Given the description of an element on the screen output the (x, y) to click on. 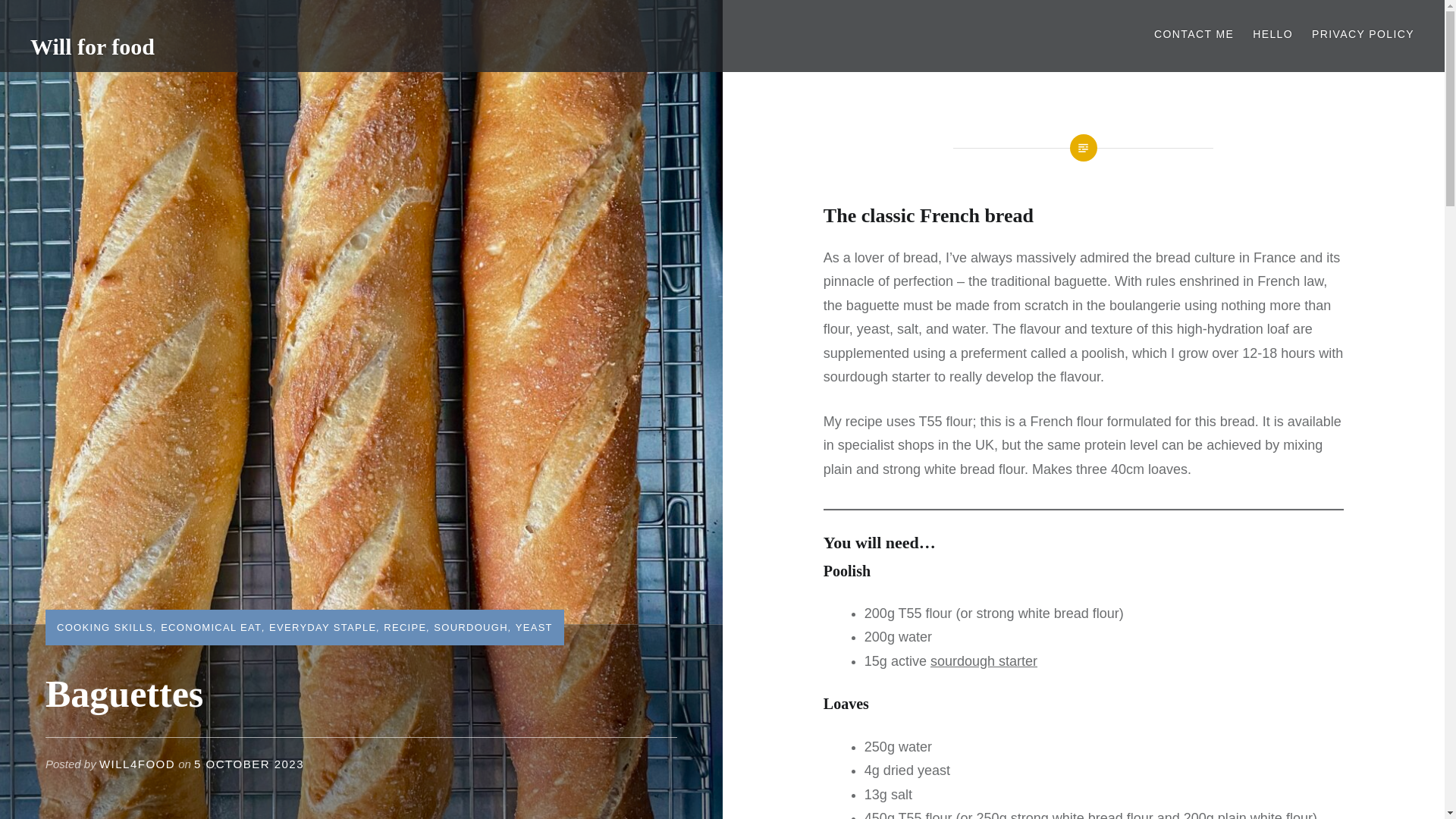
HELLO (1272, 34)
YEAST (534, 627)
ECONOMICAL EAT (211, 627)
EVERYDAY STAPLE (322, 627)
WILL4FOOD (136, 763)
SOURDOUGH (470, 627)
CONTACT ME (1193, 34)
Will for food (92, 46)
COOKING SKILLS (104, 627)
PRIVACY POLICY (1362, 34)
